Given the description of an element on the screen output the (x, y) to click on. 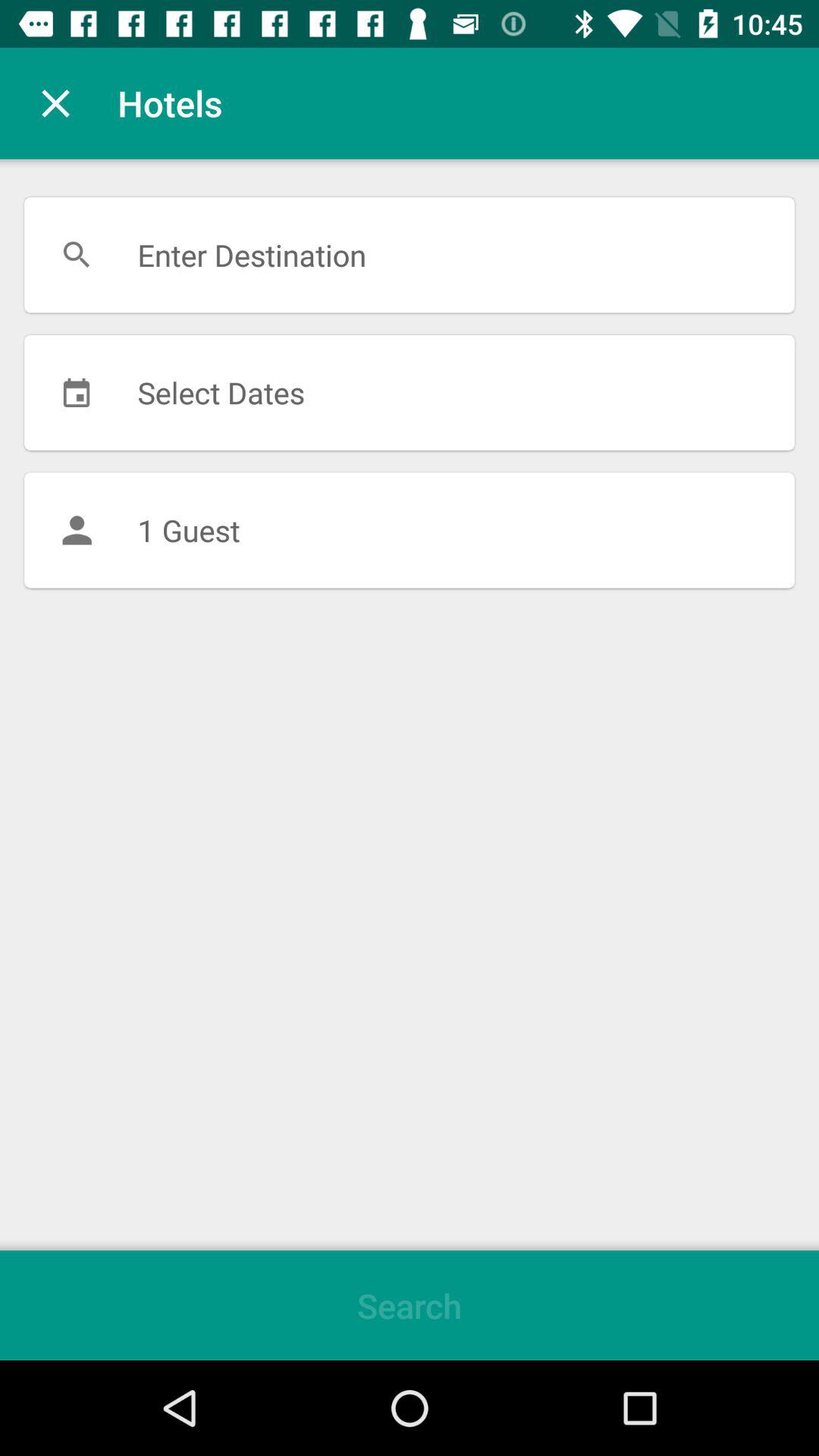
swipe to enter destination (409, 254)
